Given the description of an element on the screen output the (x, y) to click on. 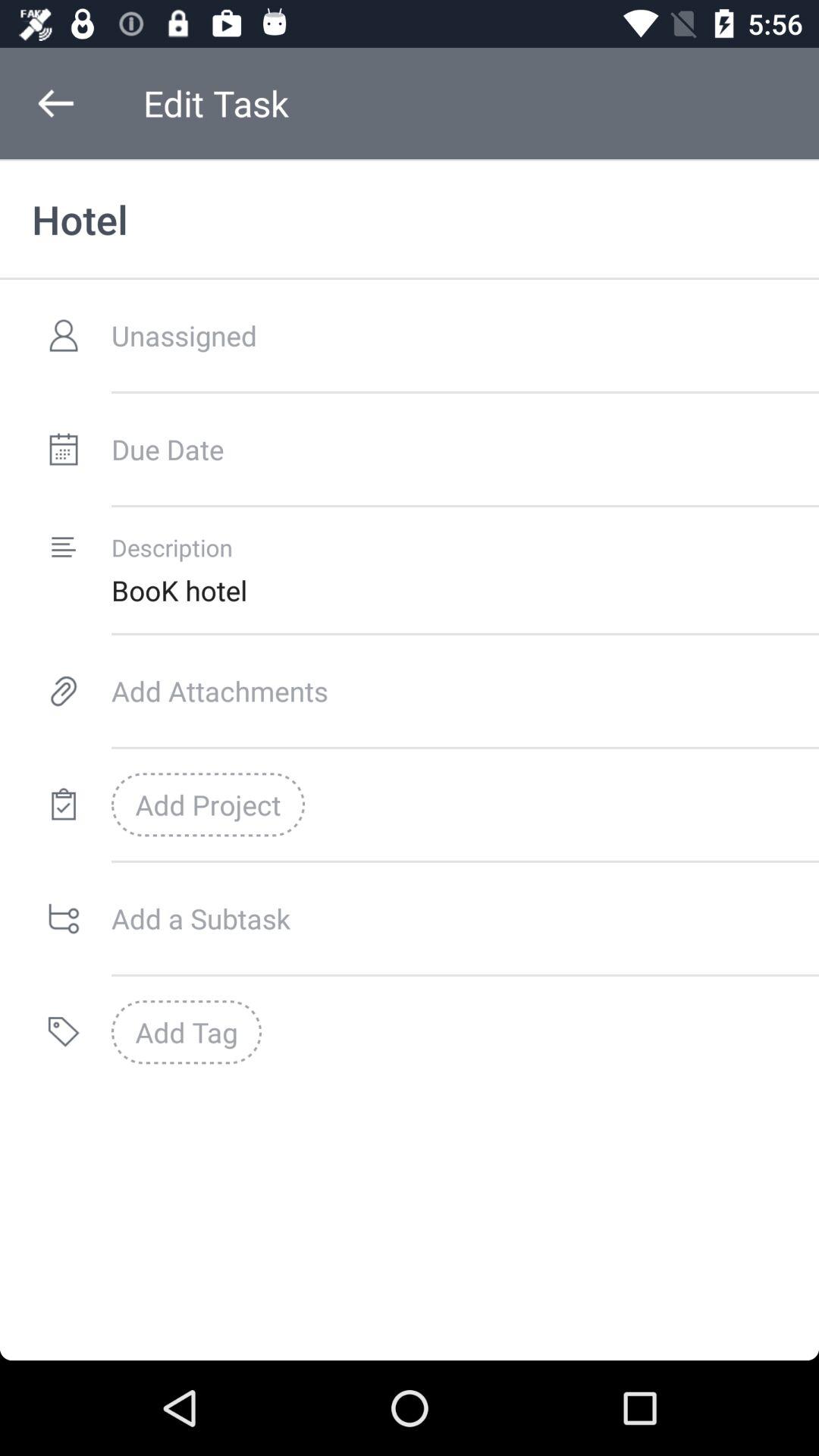
select the text field which is below the book hotel (465, 690)
select  the text box which says add a subtask (465, 918)
select the symbol which is to the immediate left of add a subtask (63, 918)
select the text book hotel (465, 590)
it is clickable (63, 449)
go to unassigned (449, 335)
